Given the description of an element on the screen output the (x, y) to click on. 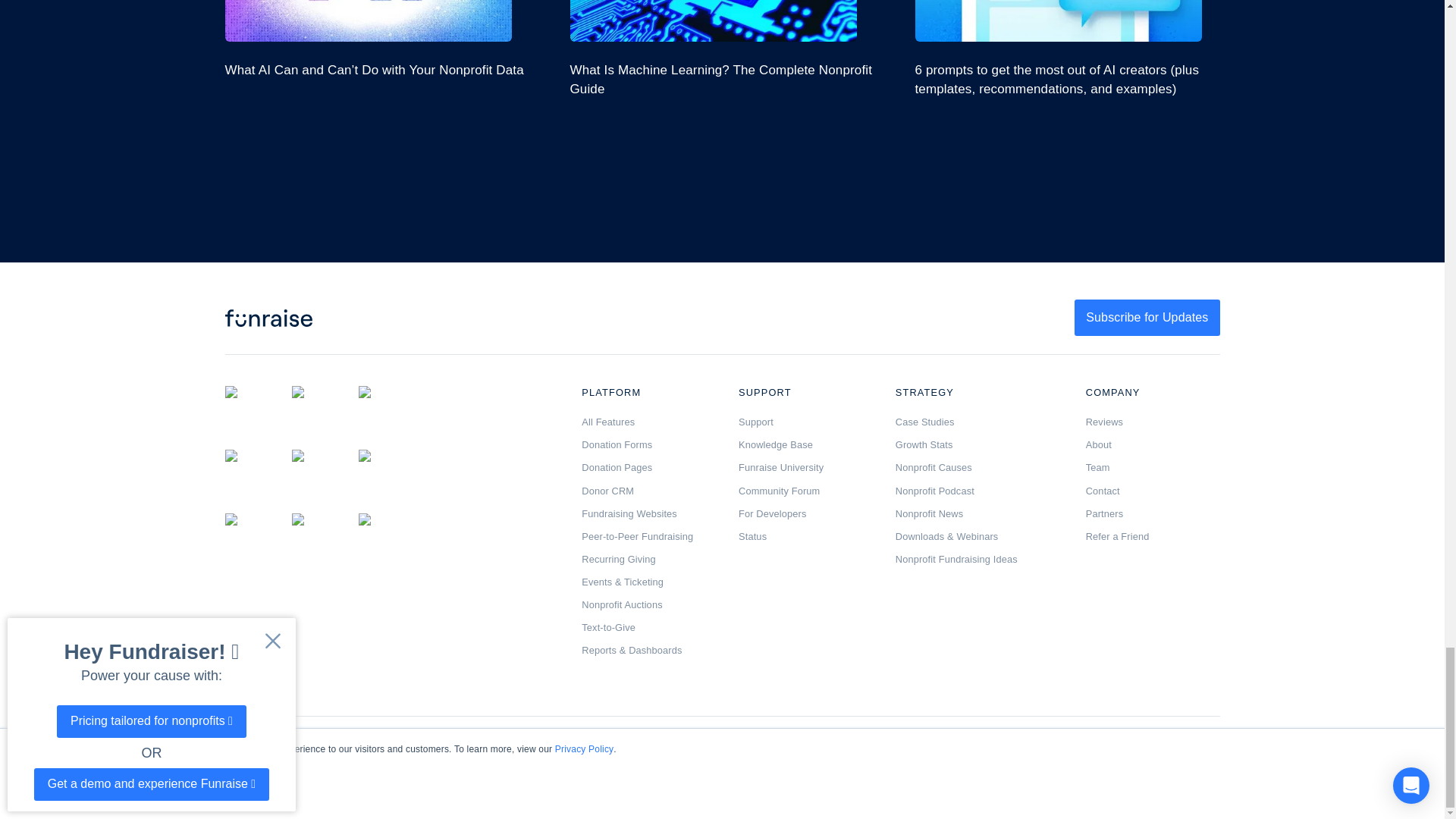
Community Forum (805, 490)
Nonprofit Causes (978, 468)
Donation Forms (648, 445)
Growth Stats (978, 445)
Support (805, 422)
Text-to-Give (648, 627)
For Developers (805, 513)
Status (805, 536)
Recurring Giving (648, 559)
All Features (648, 422)
Nonprofit News (978, 513)
Subscribe for Updates (1147, 317)
Knowledge Base (805, 445)
Nonprofit Auctions (648, 604)
What Is Machine Learning? The Complete Nonprofit Guide (722, 49)
